Given the description of an element on the screen output the (x, y) to click on. 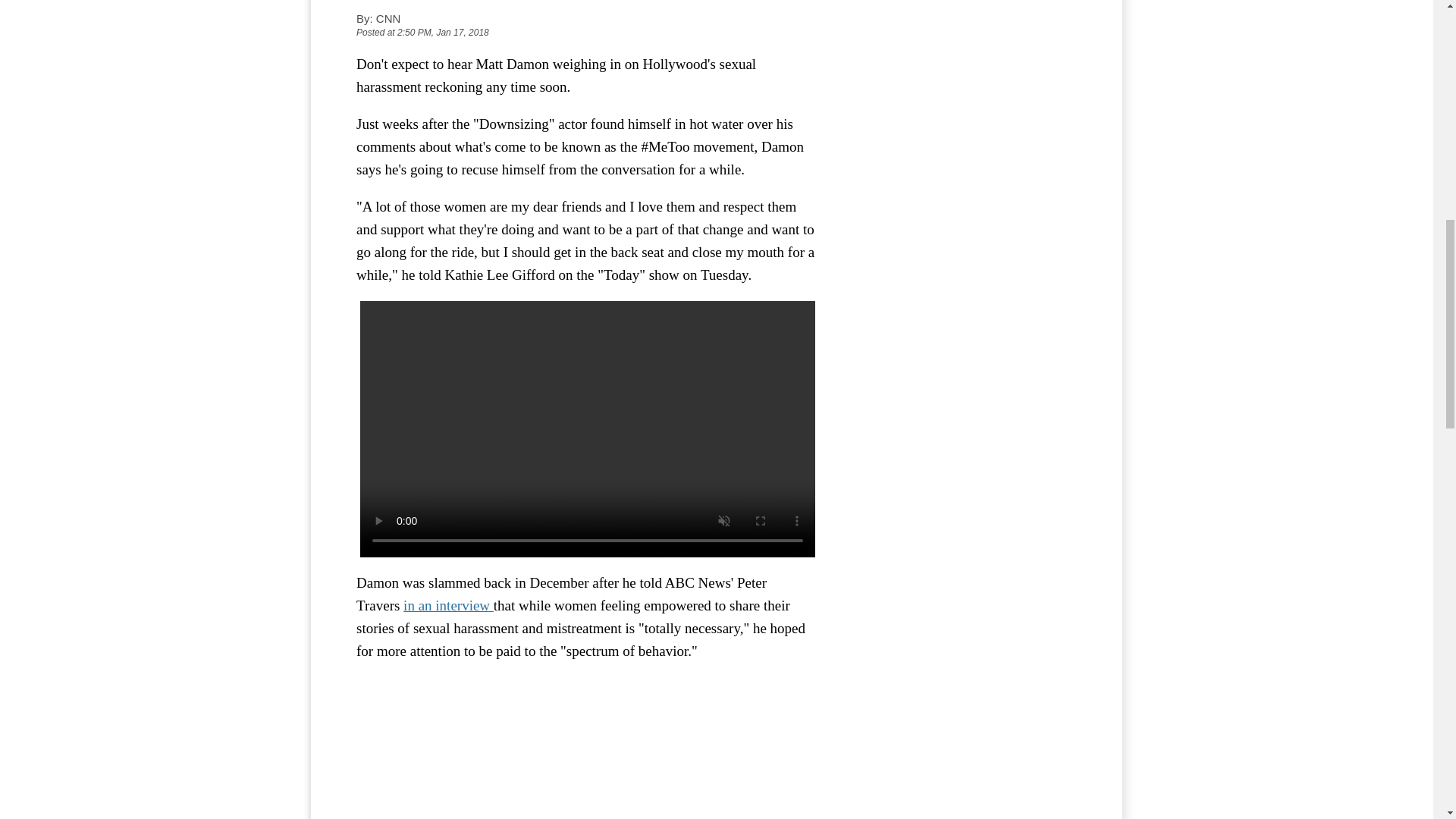
3rd party ad content (962, 180)
